Given the description of an element on the screen output the (x, y) to click on. 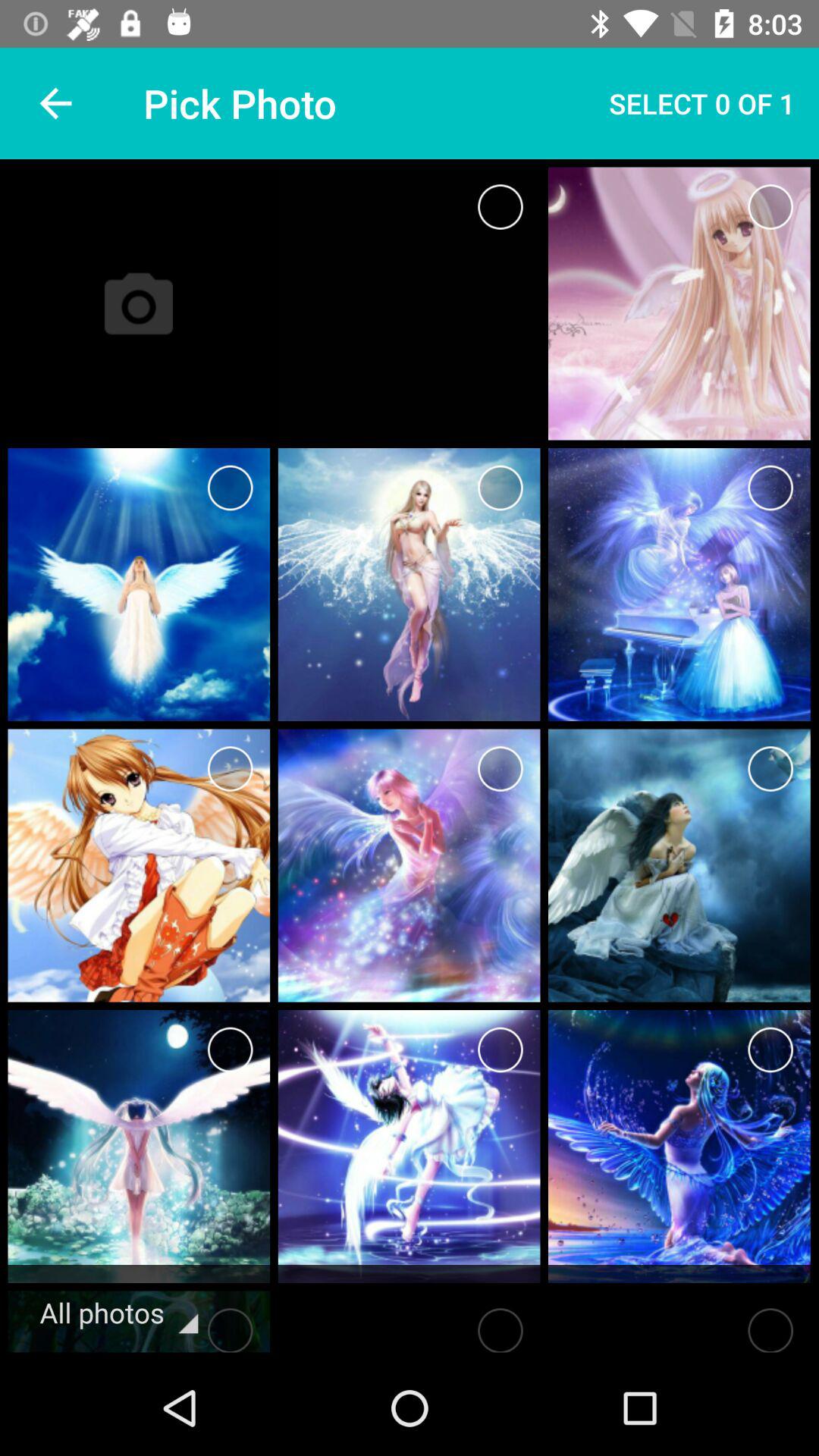
press select 0 of item (702, 103)
